Given the description of an element on the screen output the (x, y) to click on. 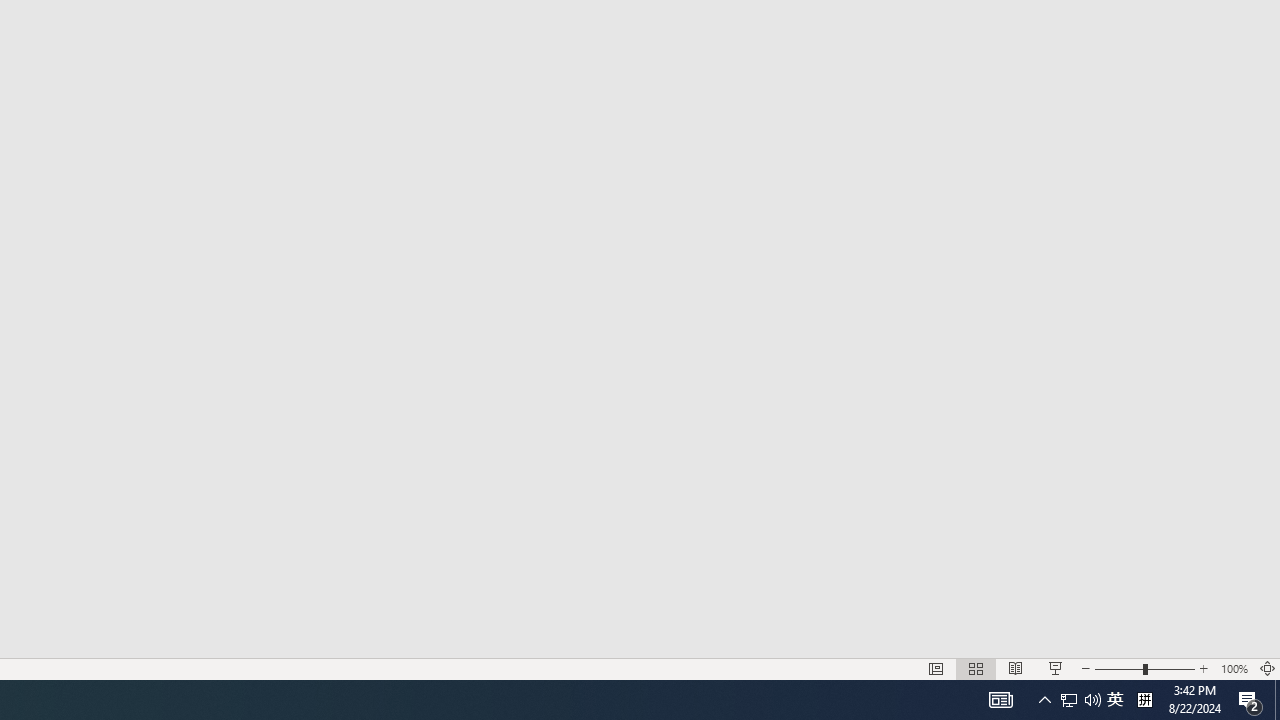
Zoom 100% (1234, 668)
